Given the description of an element on the screen output the (x, y) to click on. 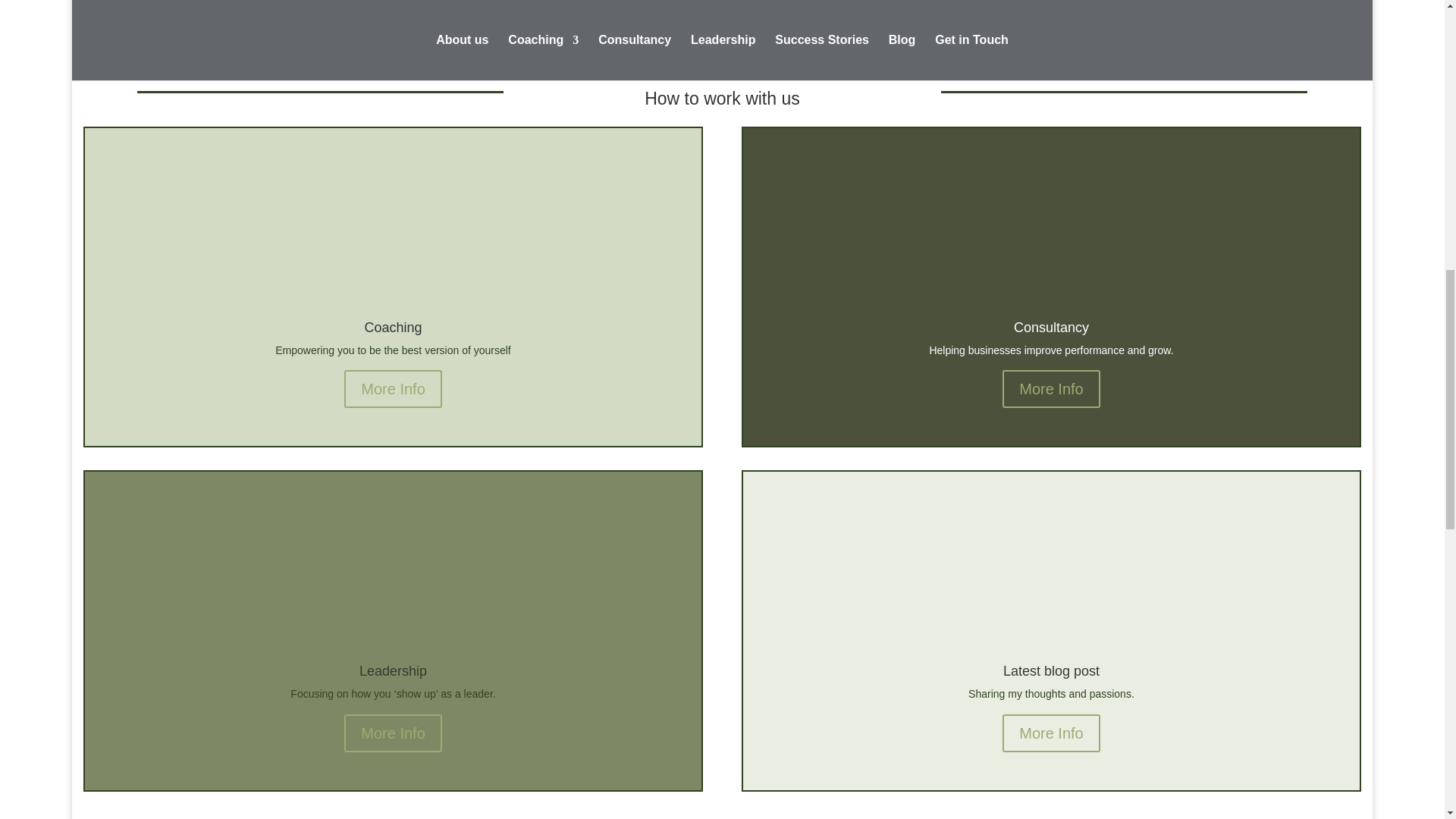
Consultancy (1051, 327)
More Info (392, 733)
Latest blog post (1051, 670)
More Info (1051, 388)
More Info (392, 388)
Leadership (392, 670)
More Info (1051, 733)
Coaching (393, 327)
